Given the description of an element on the screen output the (x, y) to click on. 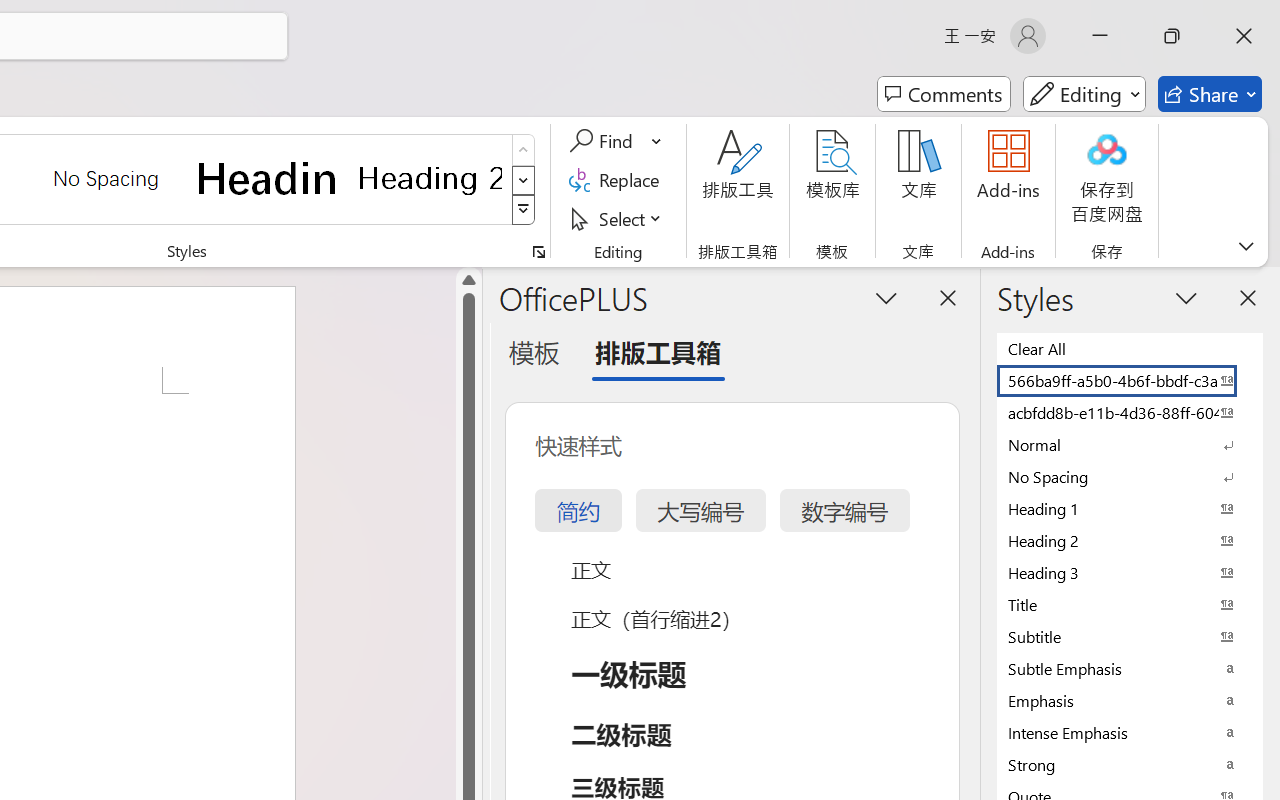
Comments (943, 94)
Replace... (617, 179)
Select (618, 218)
Mode (1083, 94)
Minimize (1099, 36)
Restore Down (1172, 36)
Title (1130, 604)
Class: NetUIImage (523, 210)
Find (616, 141)
Normal (1130, 444)
Row Down (523, 180)
